Given the description of an element on the screen output the (x, y) to click on. 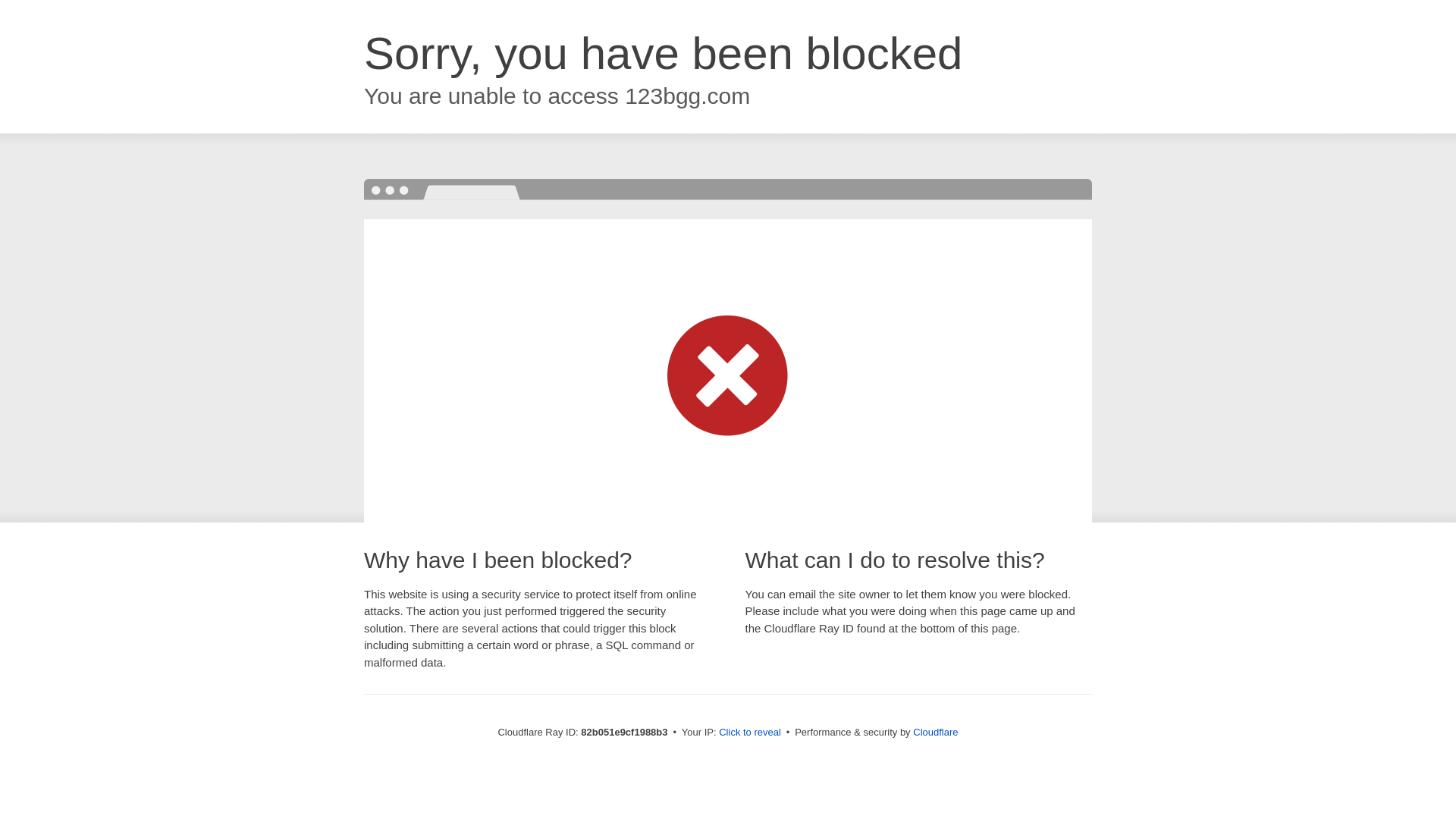
Click to reveal Element type: text (749, 732)
Cloudflare Element type: text (935, 731)
